Given the description of an element on the screen output the (x, y) to click on. 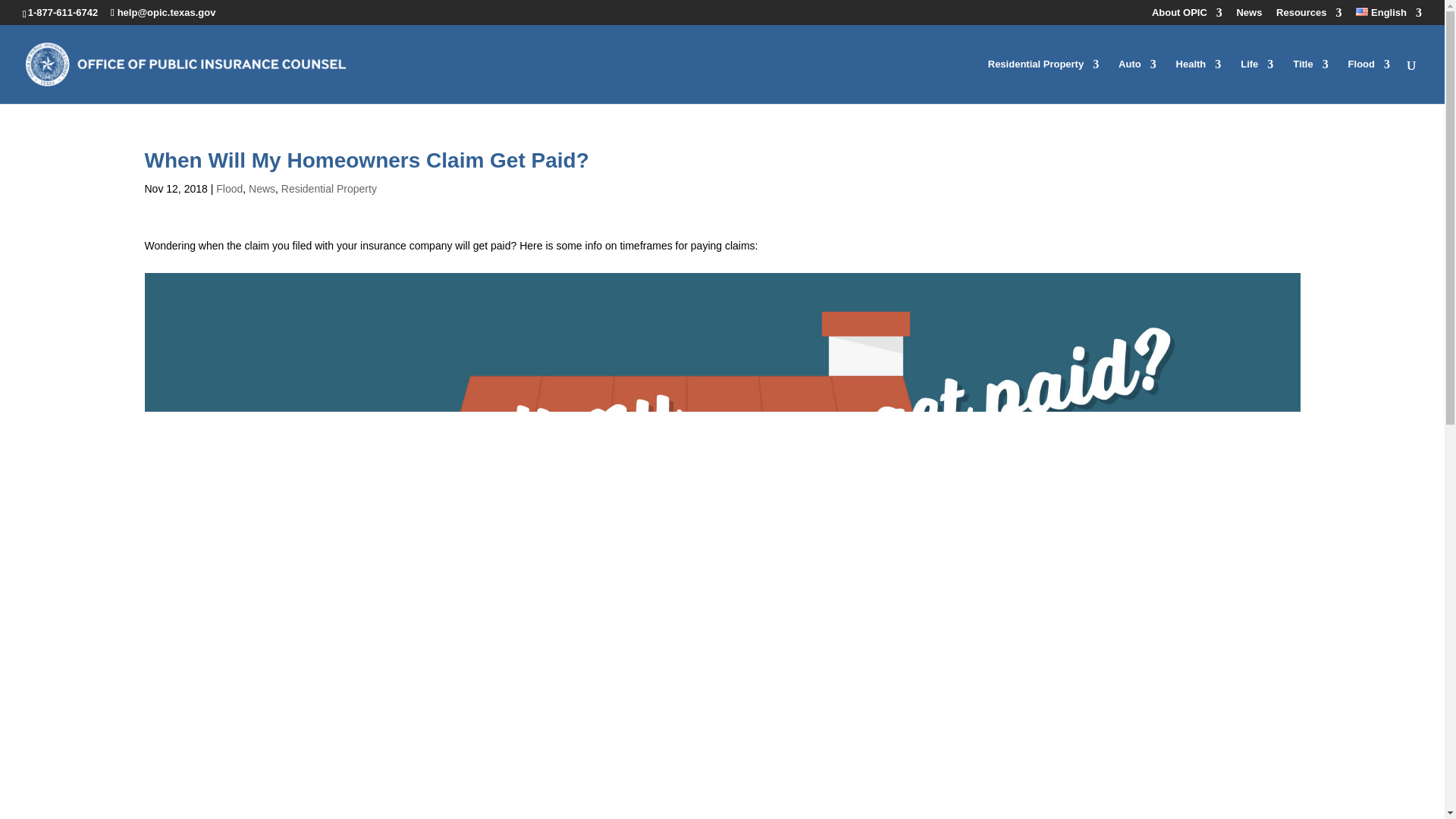
Resources (1308, 16)
News (1249, 16)
English (1388, 16)
Health (1198, 81)
Residential Property (1043, 81)
About OPIC (1187, 16)
